Given the description of an element on the screen output the (x, y) to click on. 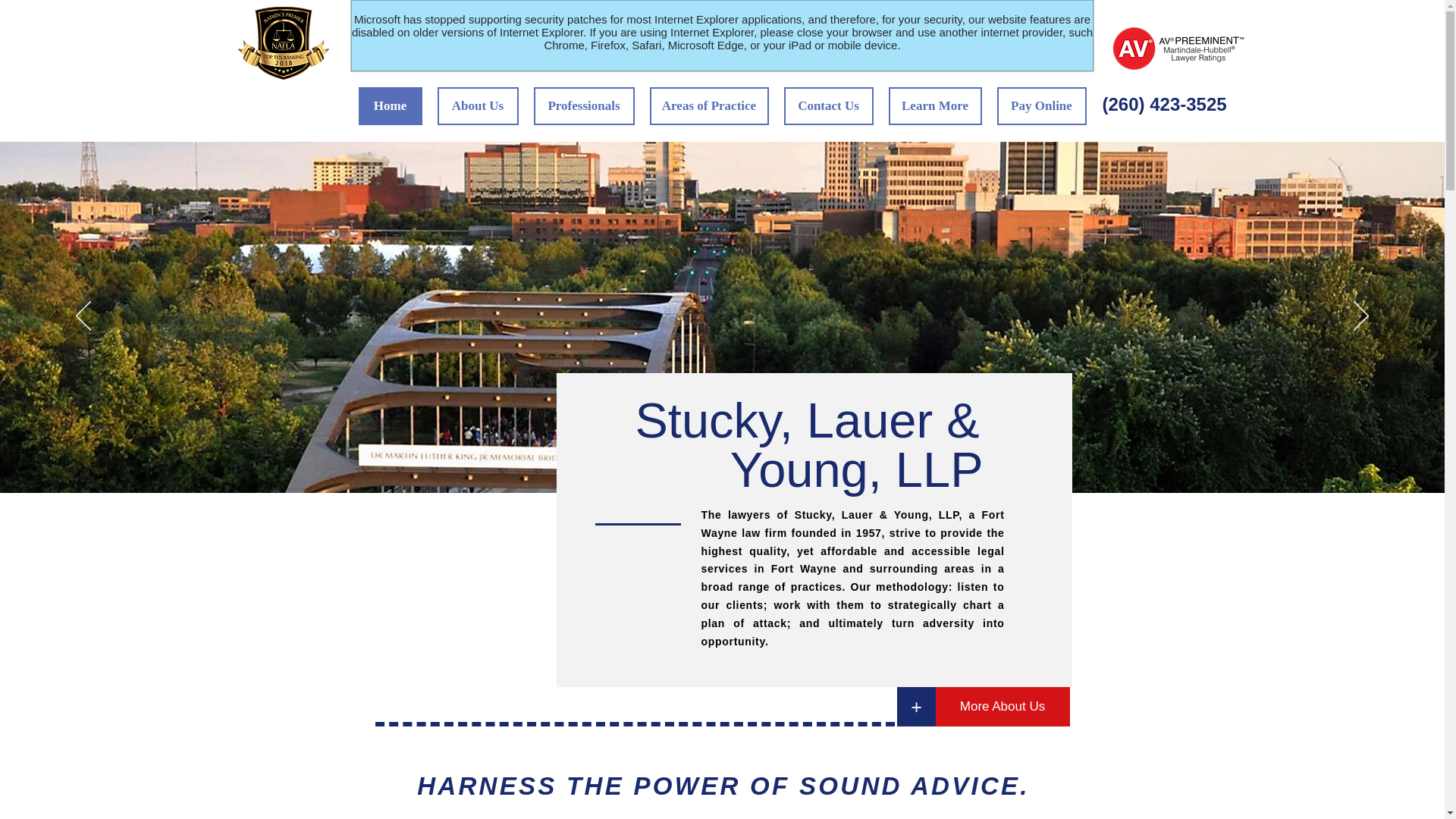
Pay Online (1040, 105)
Professionals (584, 105)
Areas of Practice (708, 105)
About Us (477, 105)
More About Us (1003, 706)
Home (390, 105)
Contact Us (828, 105)
